Given the description of an element on the screen output the (x, y) to click on. 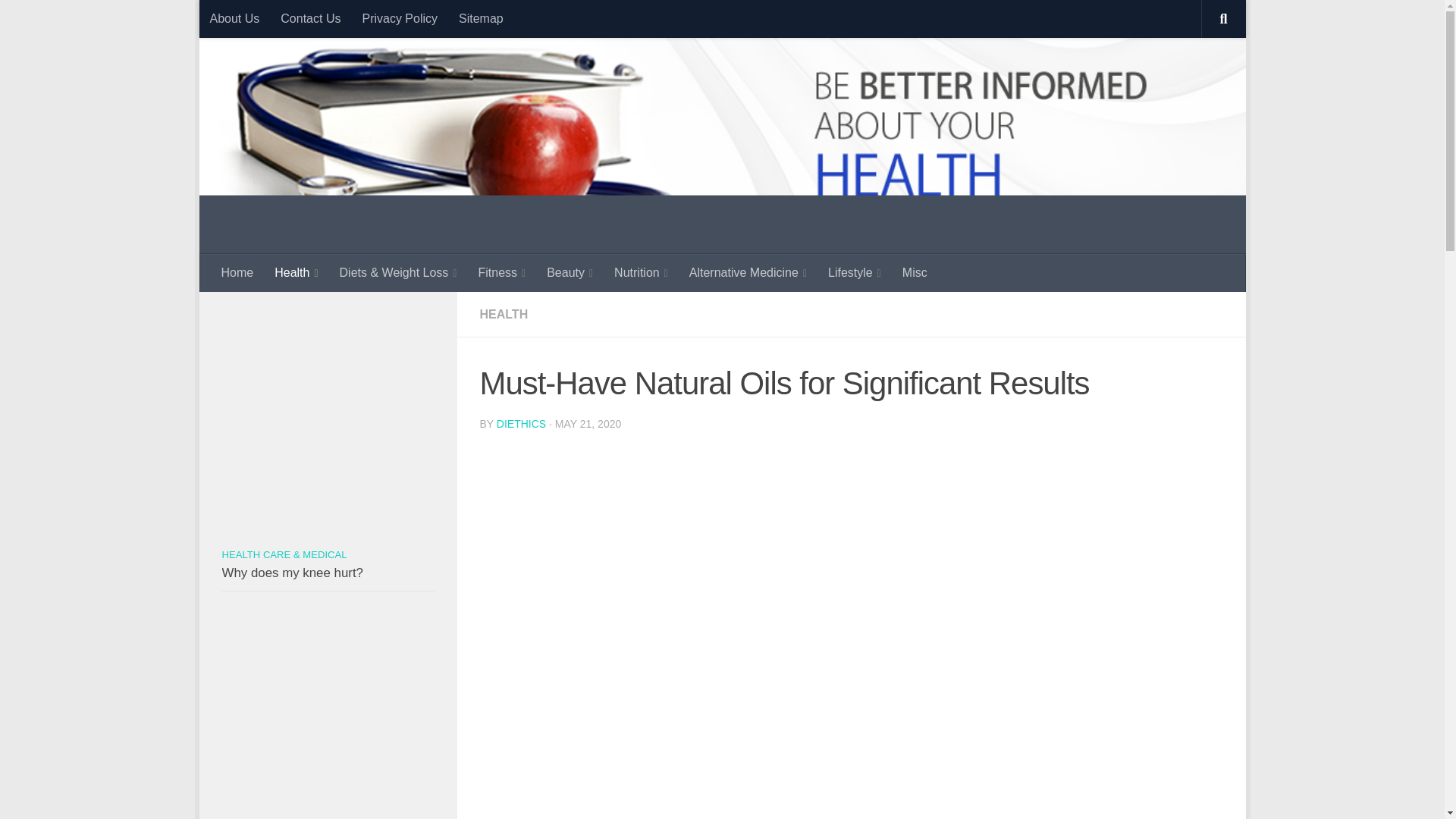
Skip to content (263, 20)
